Given the description of an element on the screen output the (x, y) to click on. 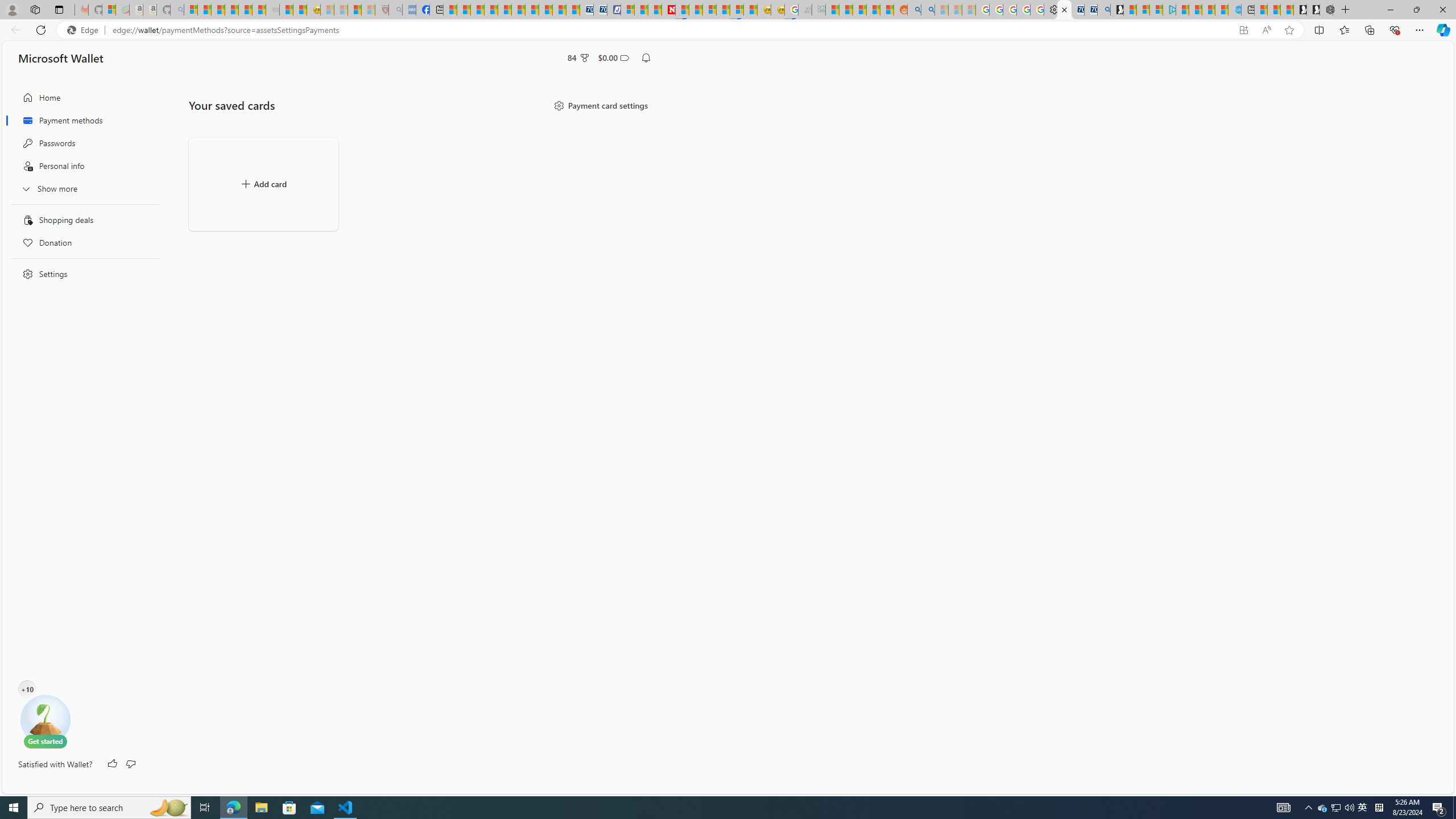
Combat Siege - Sleeping (271, 9)
